Given the description of an element on the screen output the (x, y) to click on. 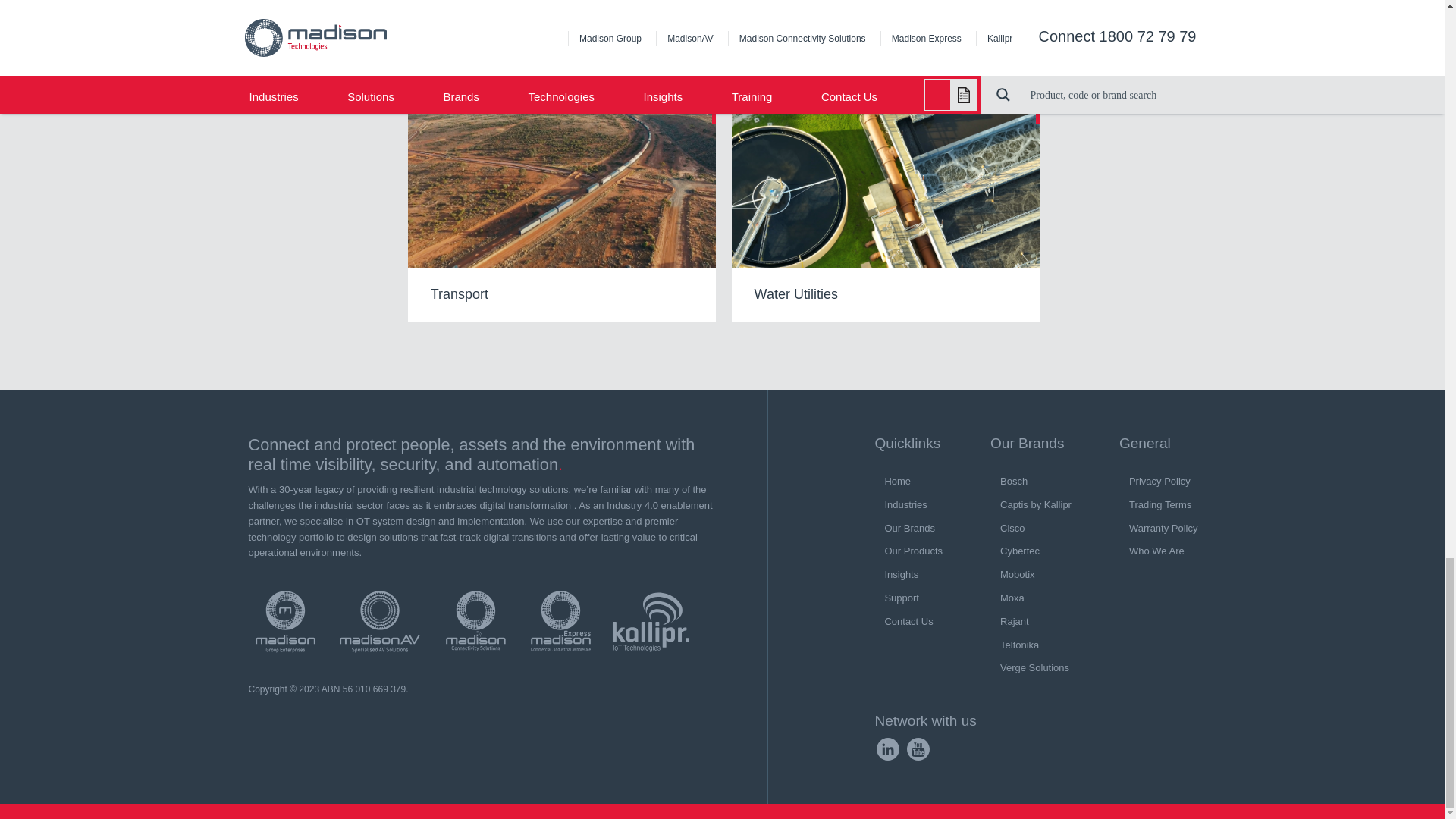
Madison Group Enterprises (284, 621)
Madison Express (560, 621)
Resources (723, 35)
Kallipr (651, 621)
Madison Connectivity Solutions (475, 621)
Transport (561, 207)
MadisonAV (379, 621)
Water Utilities (886, 207)
Smart Cities and Infrastructure (1047, 35)
Power Utilities (400, 35)
